Given the description of an element on the screen output the (x, y) to click on. 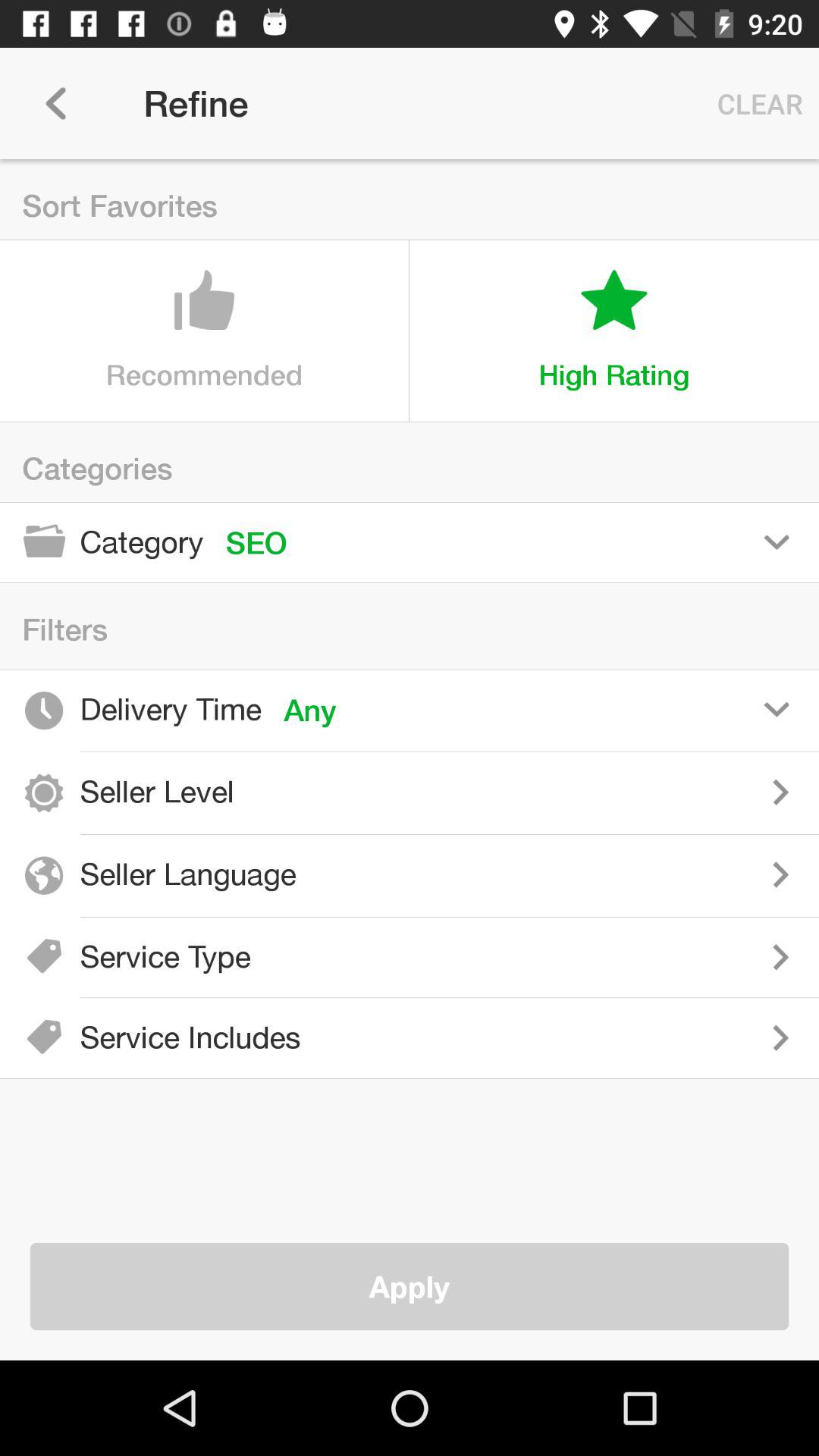
swipe until apply (409, 1286)
